Given the description of an element on the screen output the (x, y) to click on. 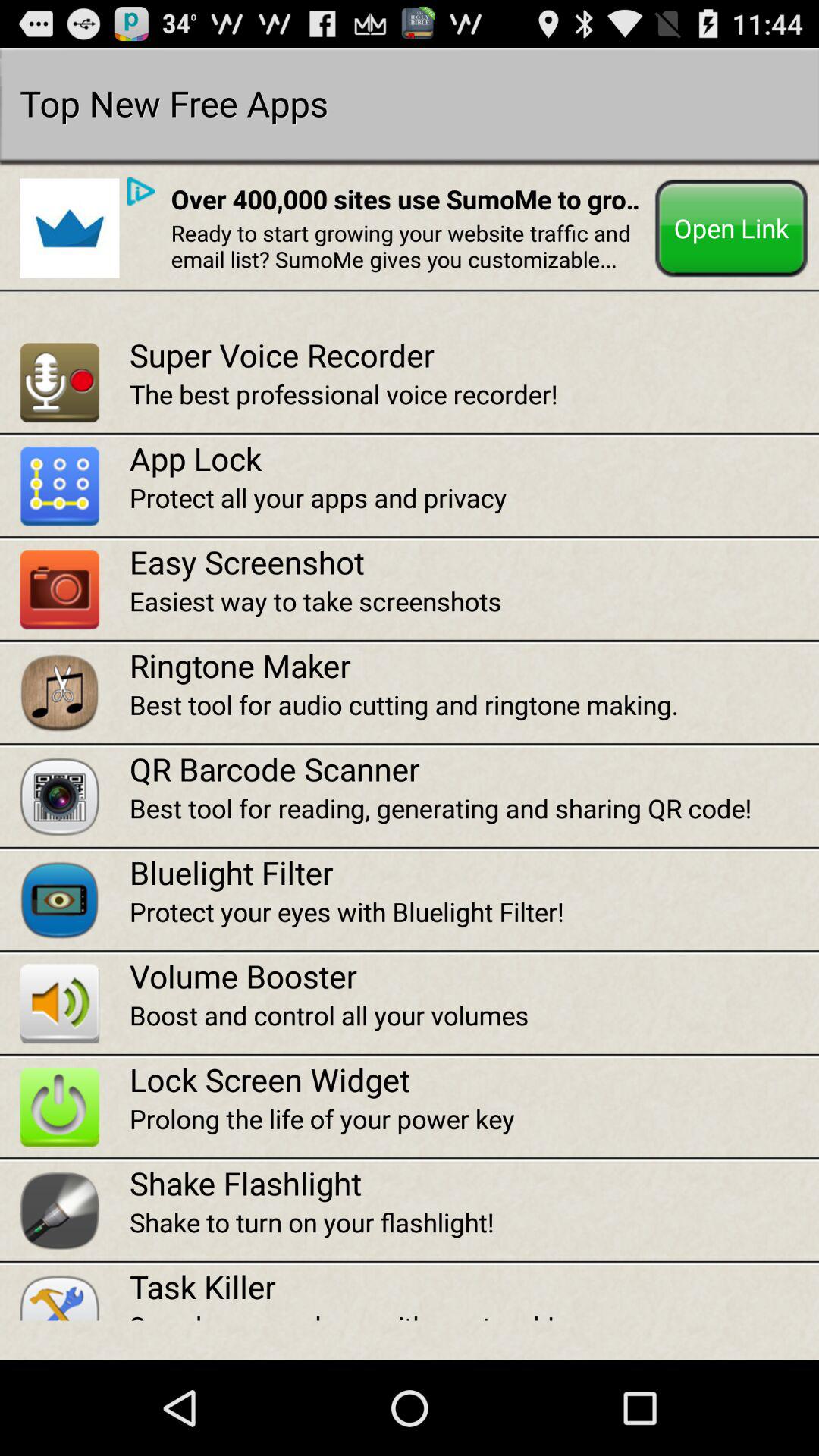
swipe until lock screen widget item (474, 1079)
